Given the description of an element on the screen output the (x, y) to click on. 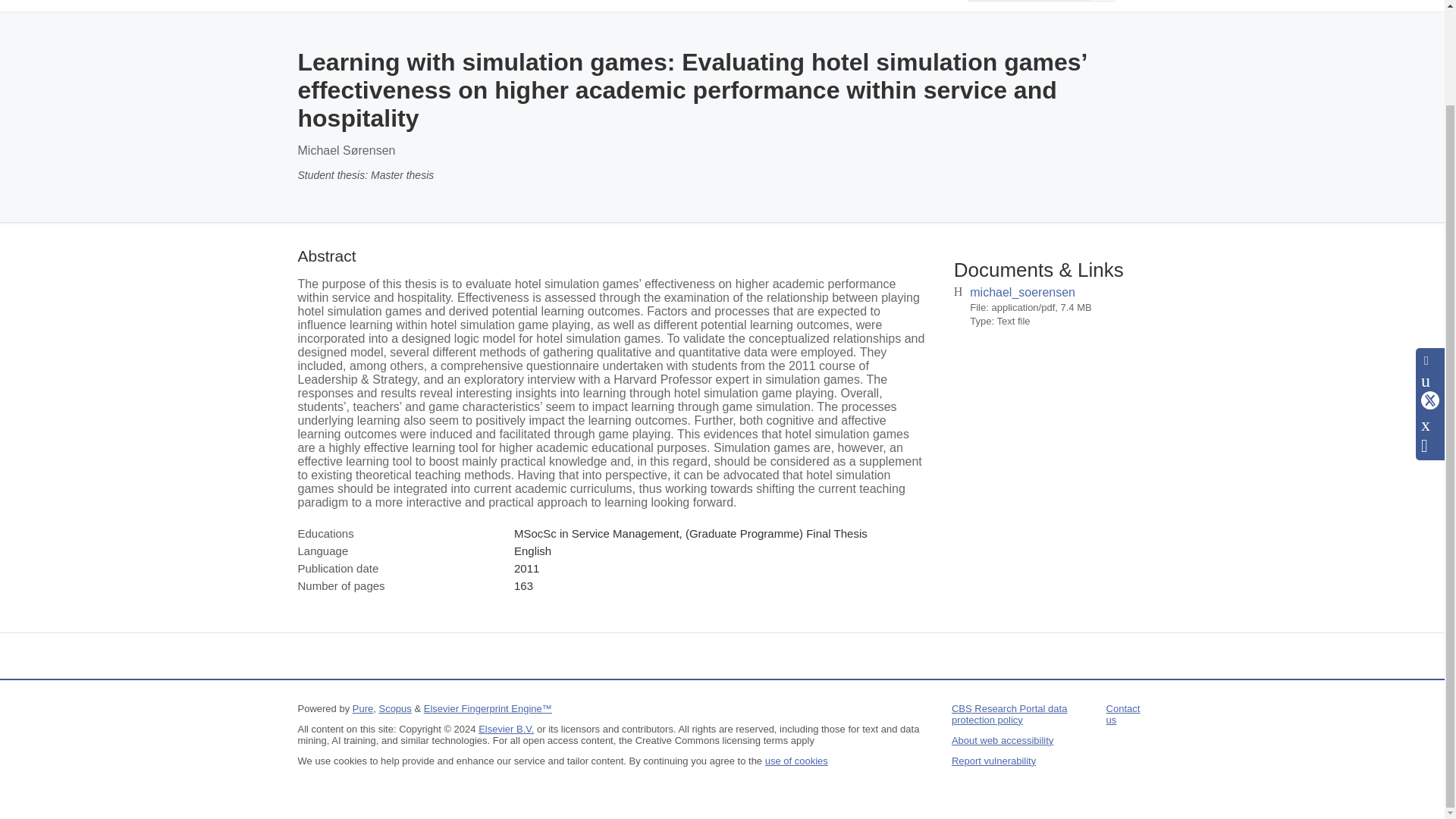
Contact us (1123, 713)
Scopus (394, 708)
About web accessibility (1002, 740)
Elsevier B.V. (506, 728)
Publications (589, 5)
Activities (671, 5)
Organisations (491, 5)
use of cookies (796, 760)
Home (315, 5)
Report vulnerability (993, 760)
